Given the description of an element on the screen output the (x, y) to click on. 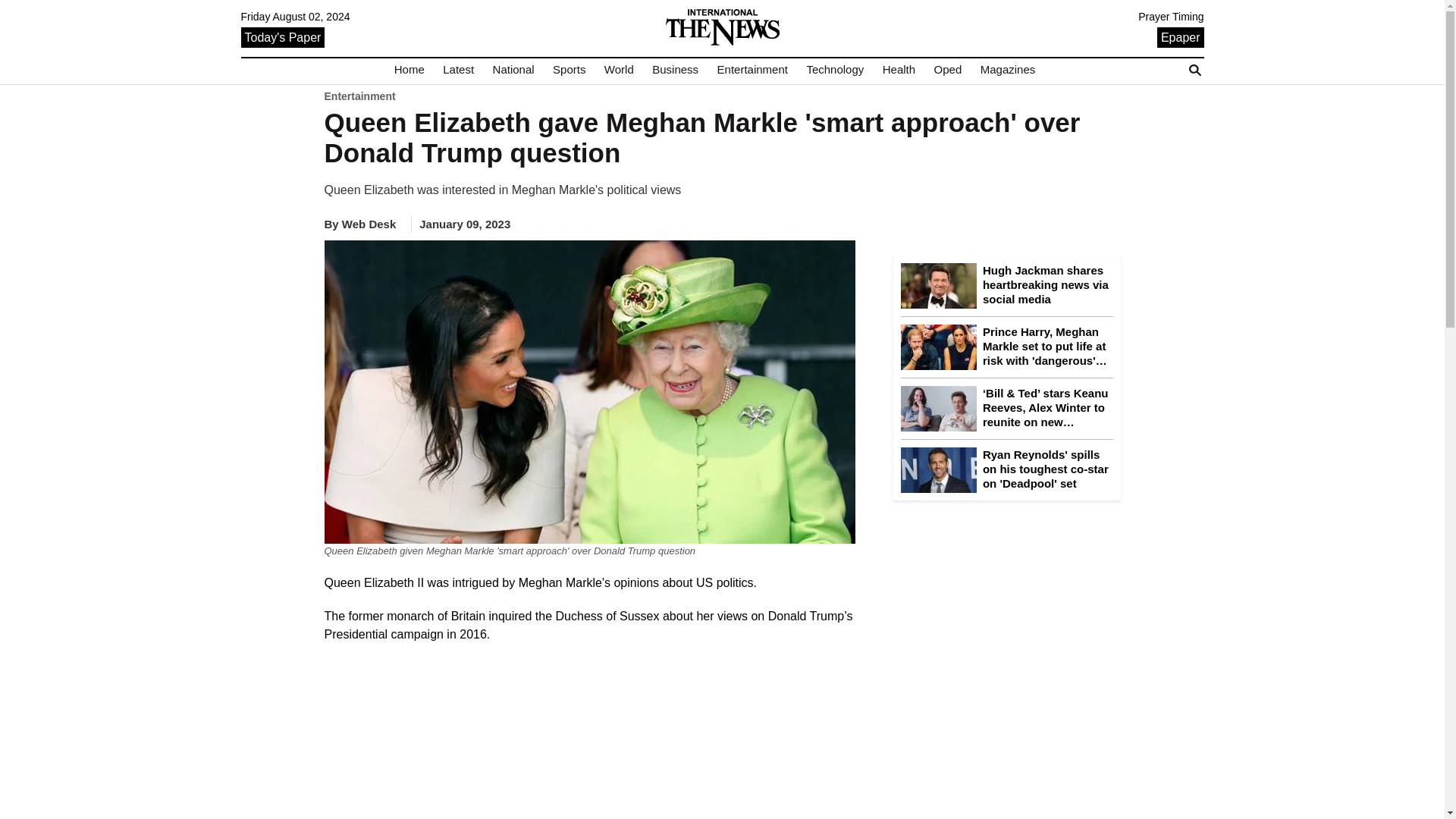
Home (409, 69)
Technology (833, 69)
Today's Paper (282, 37)
Prayer Timing (1171, 16)
Latest (458, 69)
Health (899, 69)
Entertainment (752, 69)
National (512, 69)
World (619, 69)
Epaper (1180, 37)
Sports (568, 69)
Business (675, 69)
